Given the description of an element on the screen output the (x, y) to click on. 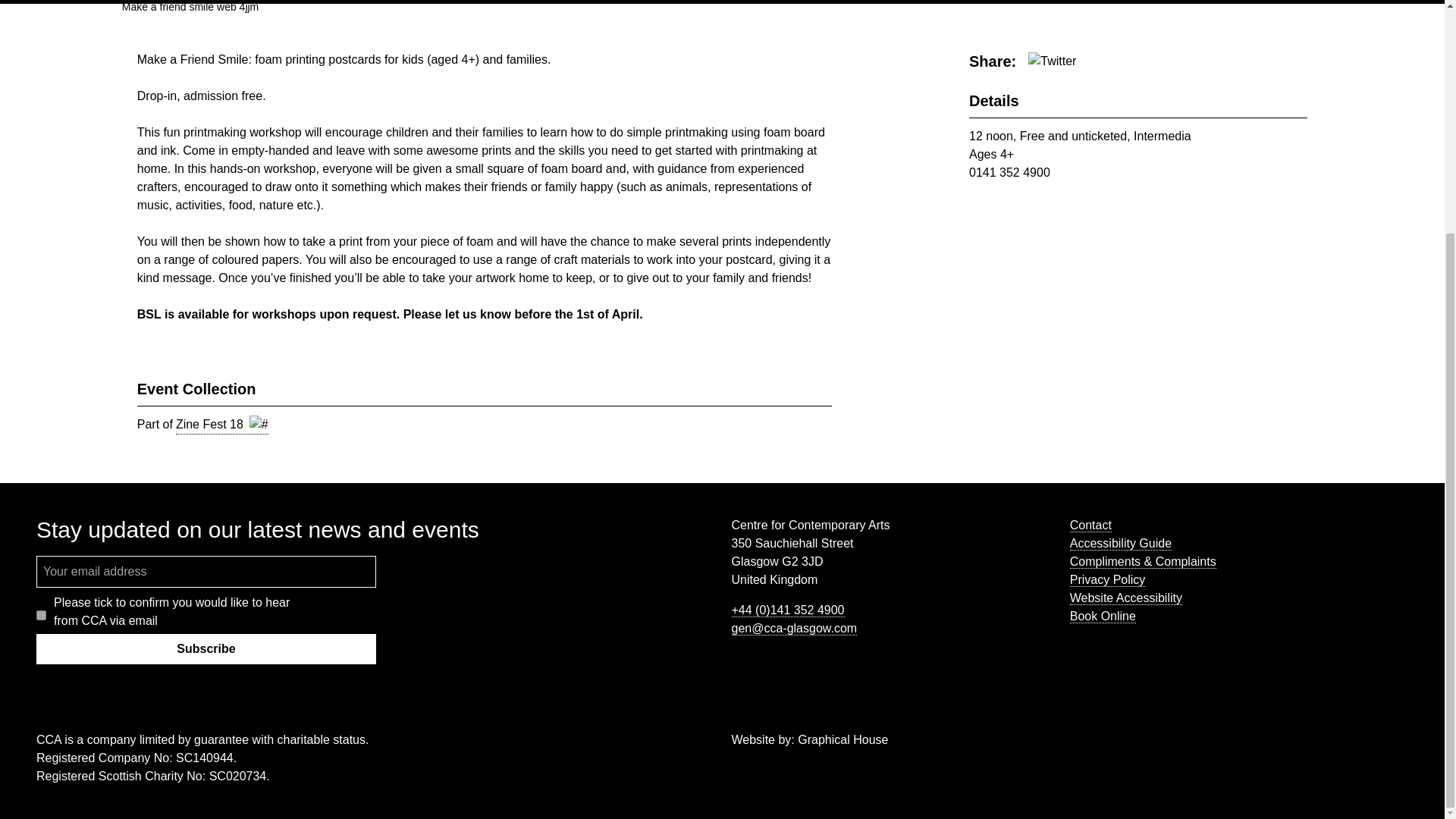
Share on Twitter (1051, 61)
